Given the description of an element on the screen output the (x, y) to click on. 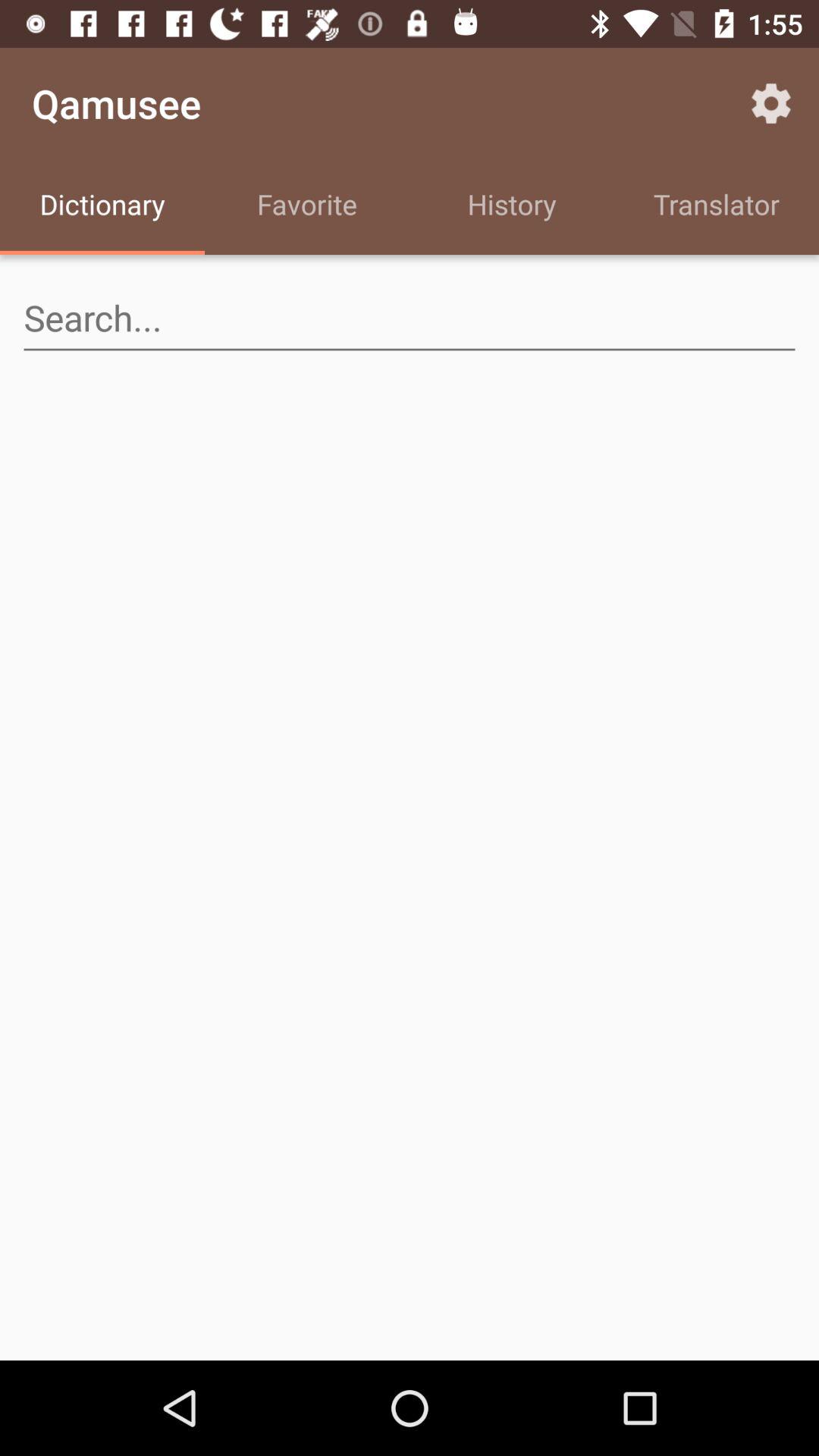
press translator icon (716, 206)
